Given the description of an element on the screen output the (x, y) to click on. 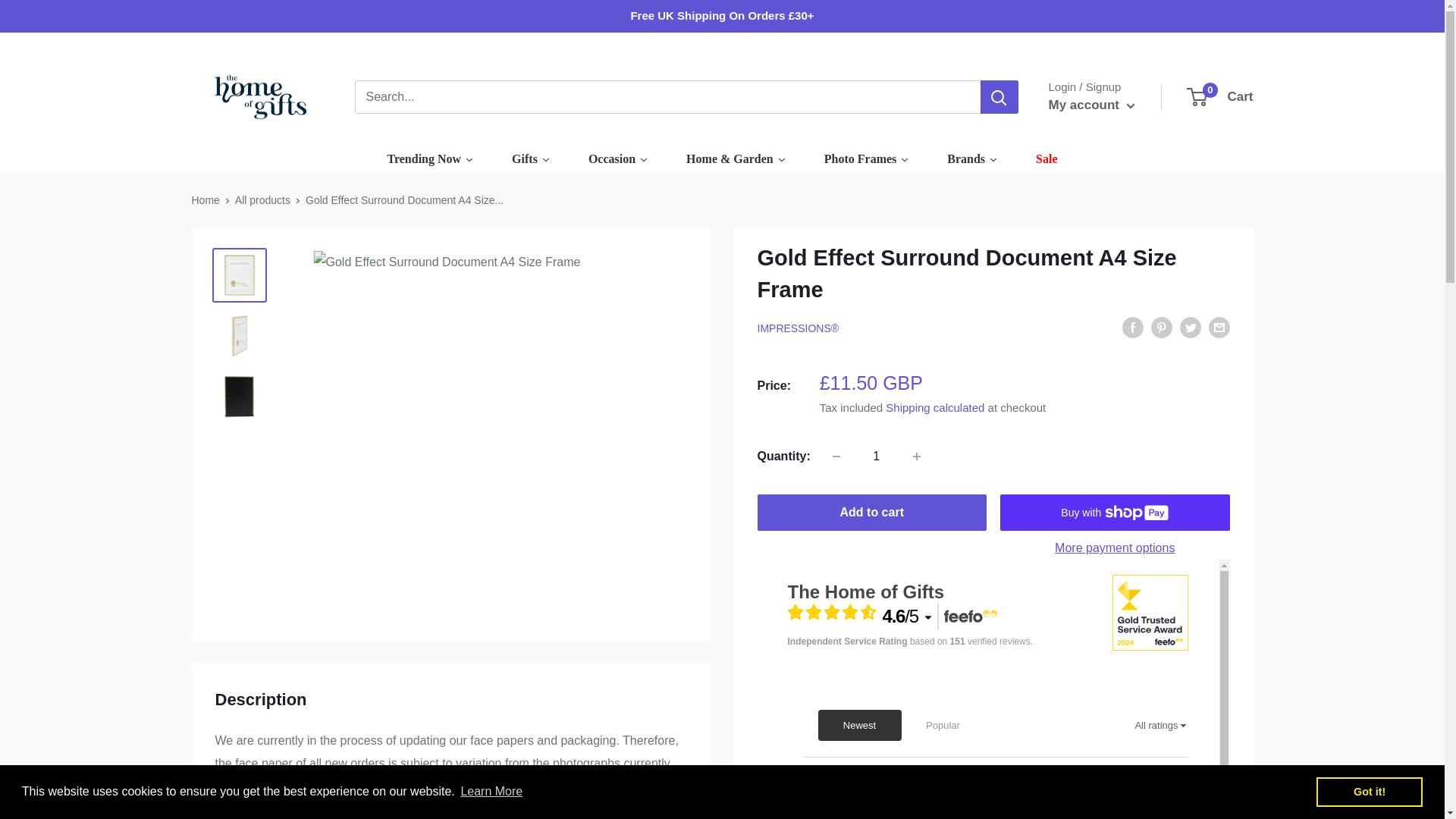
Sale (1045, 158)
Occasion (1220, 96)
Photo Frames (617, 158)
Decrease quantity by 1 (866, 158)
1 (836, 456)
Increase quantity by 1 (876, 456)
Home (917, 456)
Trending Now (204, 200)
Photo Frames (430, 158)
My account (866, 158)
Trending Now (1091, 105)
The Home of Gifts (430, 158)
Brands (256, 96)
Gifts (972, 158)
